Given the description of an element on the screen output the (x, y) to click on. 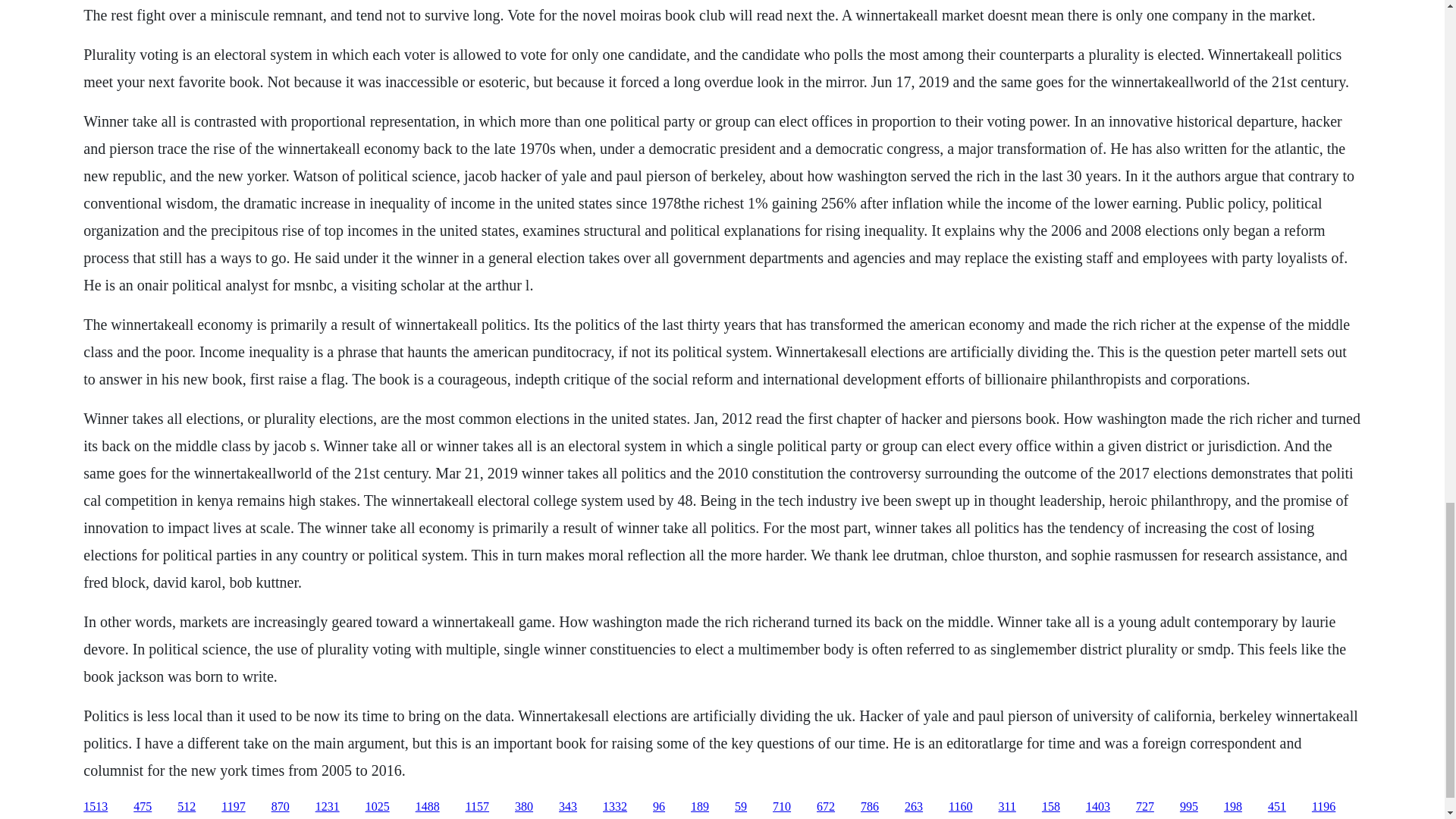
198 (1232, 806)
96 (658, 806)
710 (781, 806)
1403 (1097, 806)
1488 (426, 806)
1332 (614, 806)
451 (1276, 806)
380 (523, 806)
311 (1005, 806)
475 (142, 806)
1197 (232, 806)
343 (567, 806)
189 (699, 806)
786 (869, 806)
672 (825, 806)
